Given the description of an element on the screen output the (x, y) to click on. 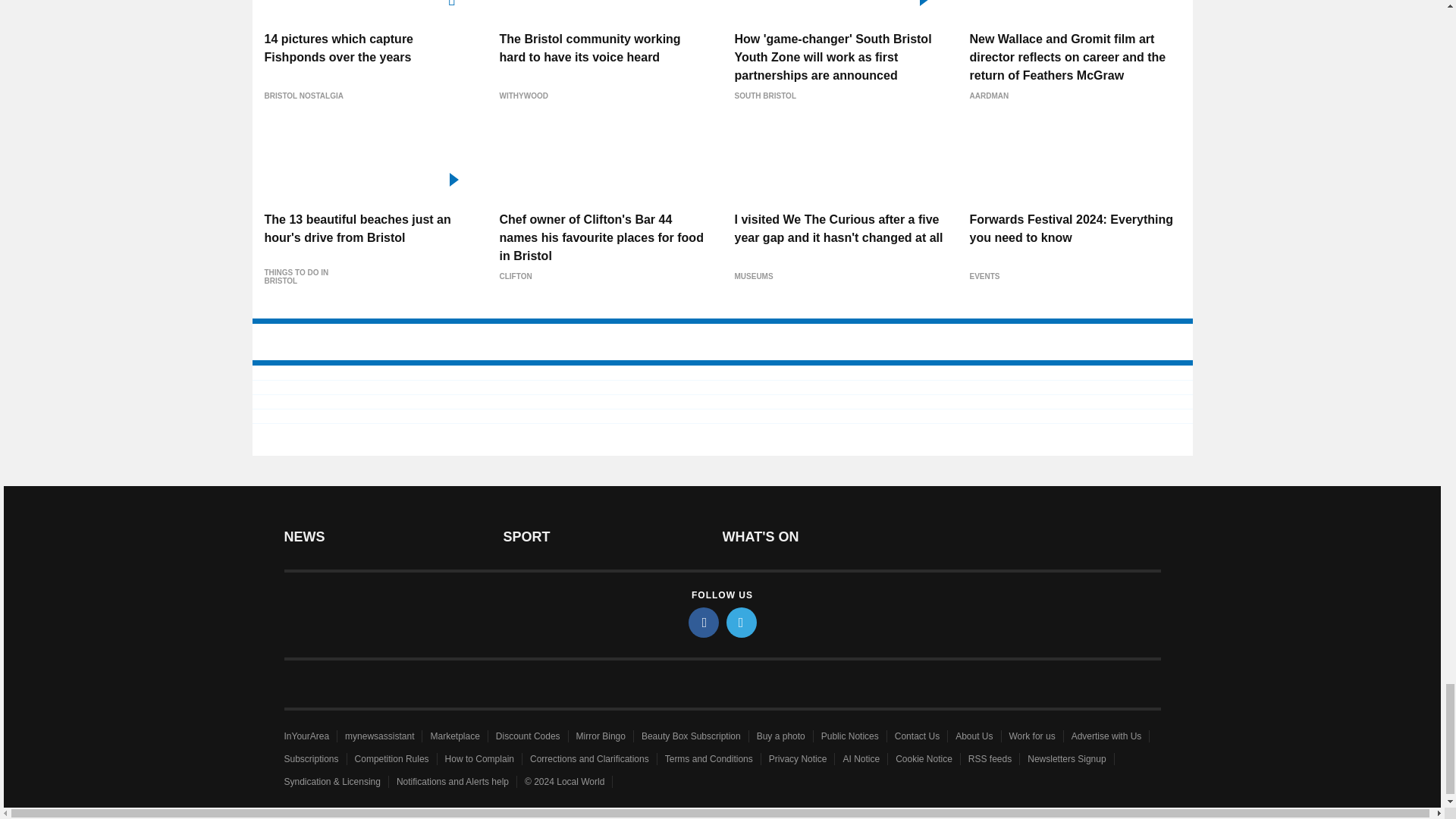
facebook (703, 622)
twitter (741, 622)
